Given the description of an element on the screen output the (x, y) to click on. 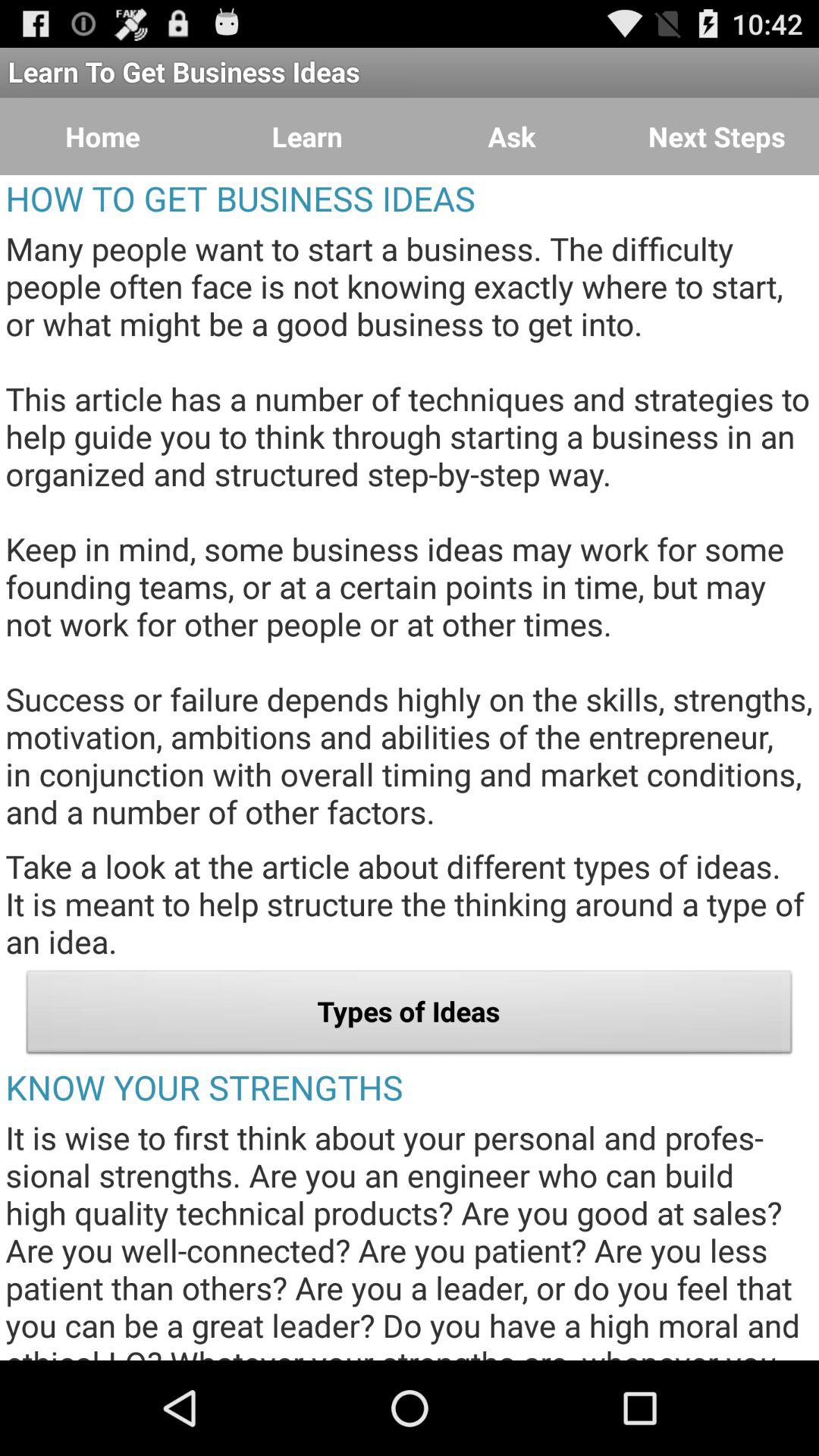
click item above how to get item (716, 136)
